Given the description of an element on the screen output the (x, y) to click on. 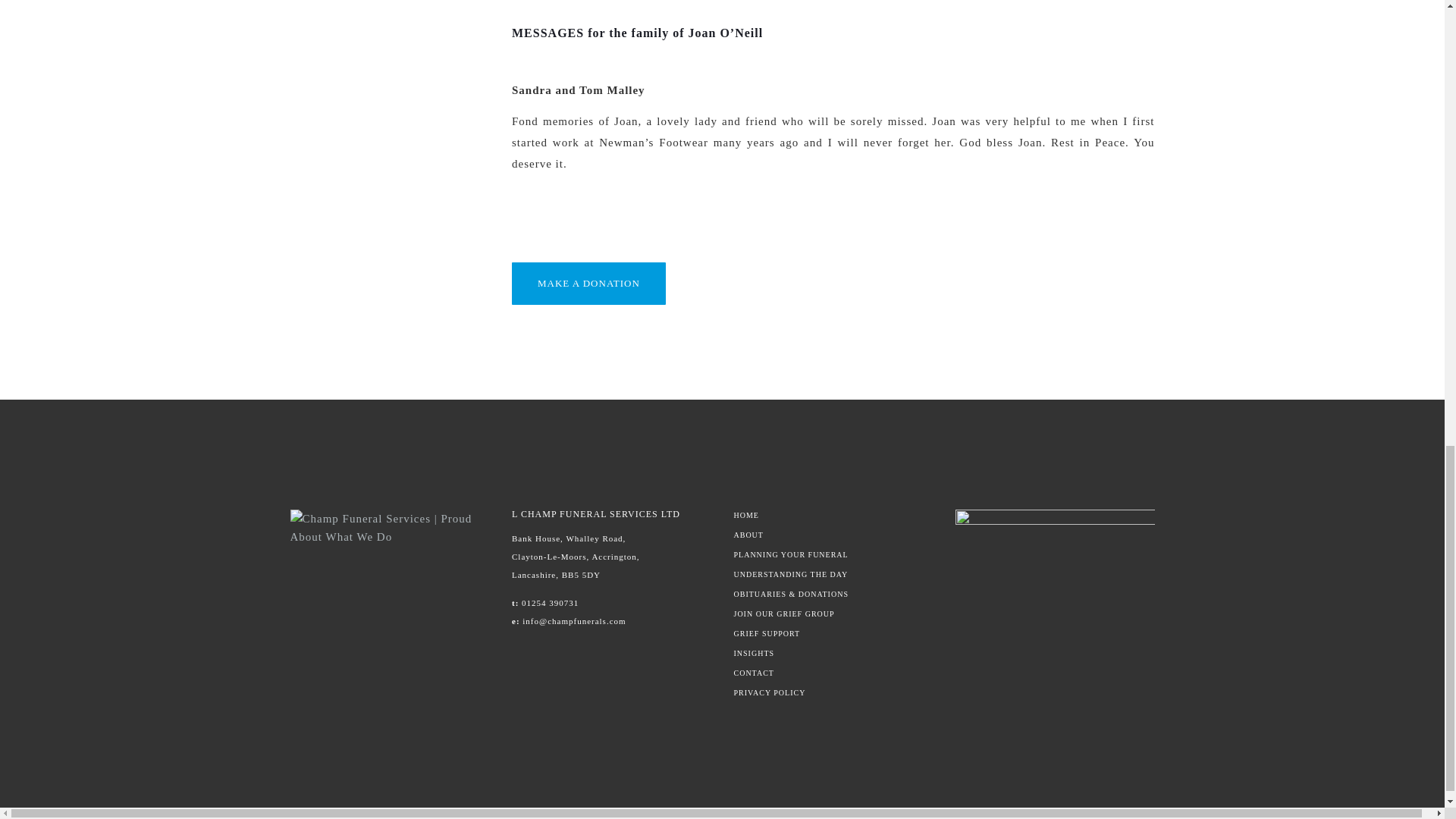
ABOUT (833, 535)
MAKE A DONATION (588, 283)
01254 390731 (549, 602)
INSIGHTS (833, 653)
JOIN OUR GRIEF GROUP (833, 613)
PLANNING YOUR FUNERAL (833, 554)
GRIEF SUPPORT (833, 633)
HOME (833, 515)
UNDERSTANDING THE DAY (833, 574)
PRIVACY POLICY (833, 693)
